Given the description of an element on the screen output the (x, y) to click on. 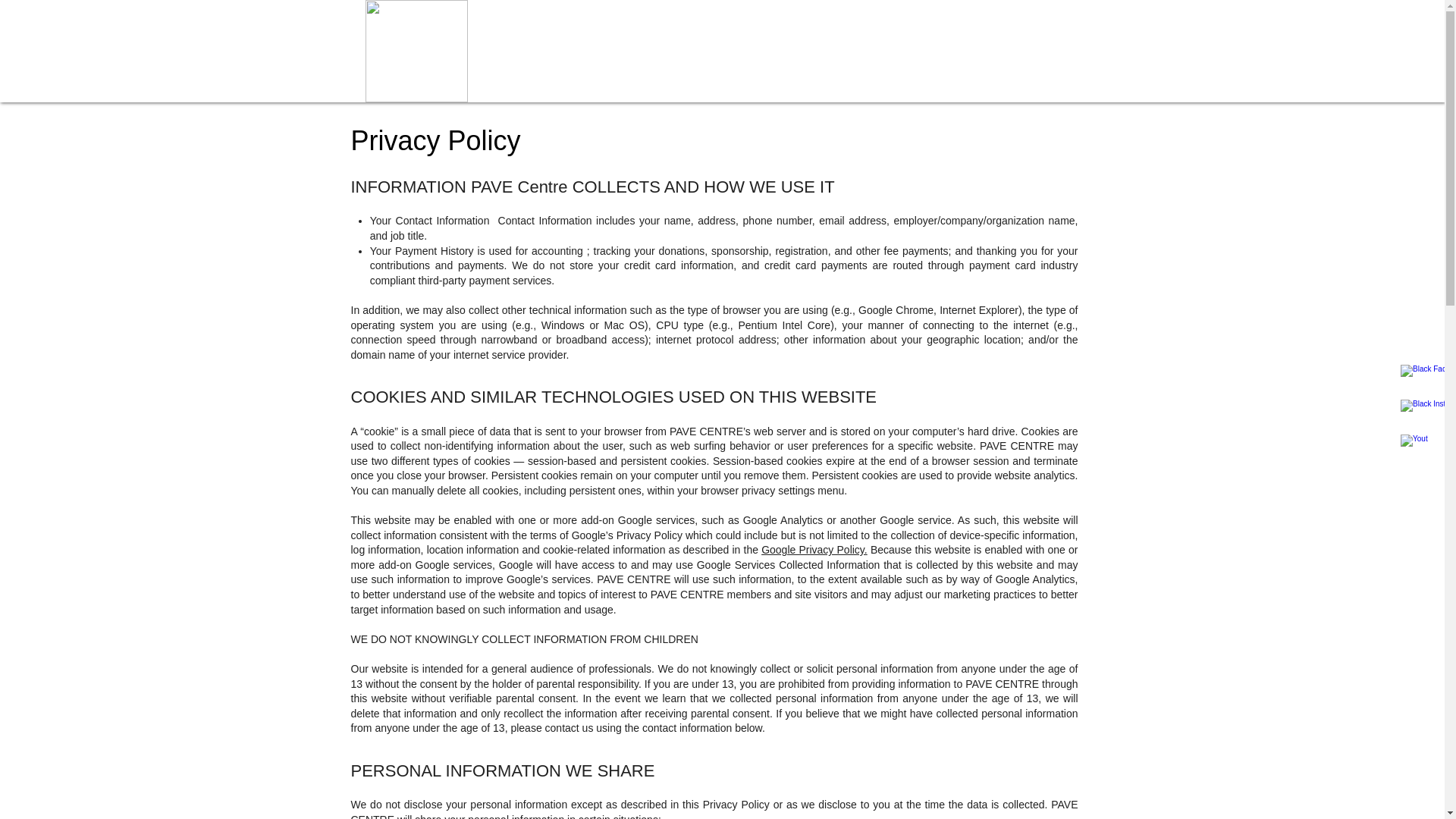
Google Privacy Policy. (814, 549)
PAVE LOGO 2023 .png (416, 51)
